Given the description of an element on the screen output the (x, y) to click on. 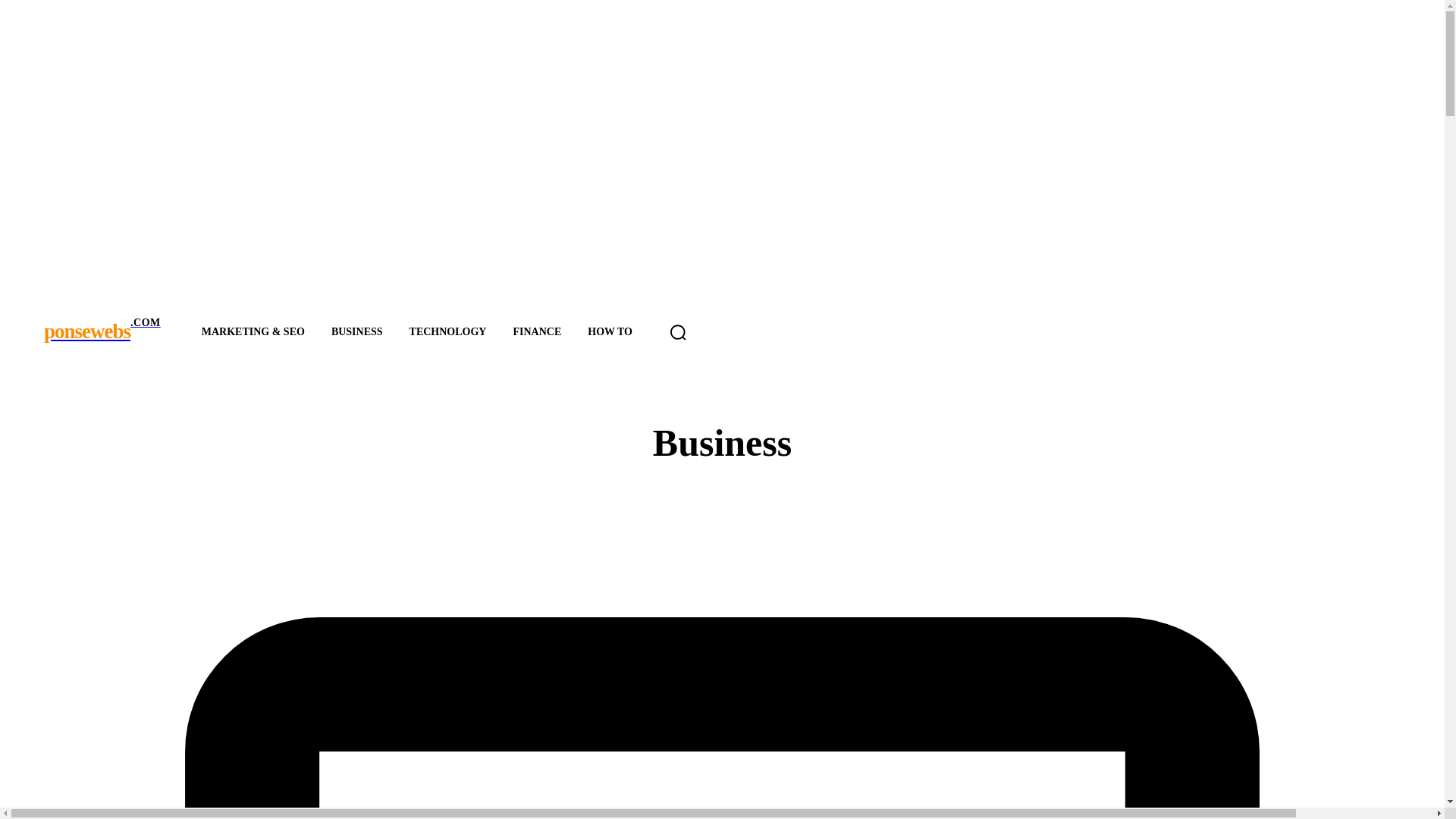
TECHNOLOGY (82, 331)
BUSINESS (450, 332)
